Given the description of an element on the screen output the (x, y) to click on. 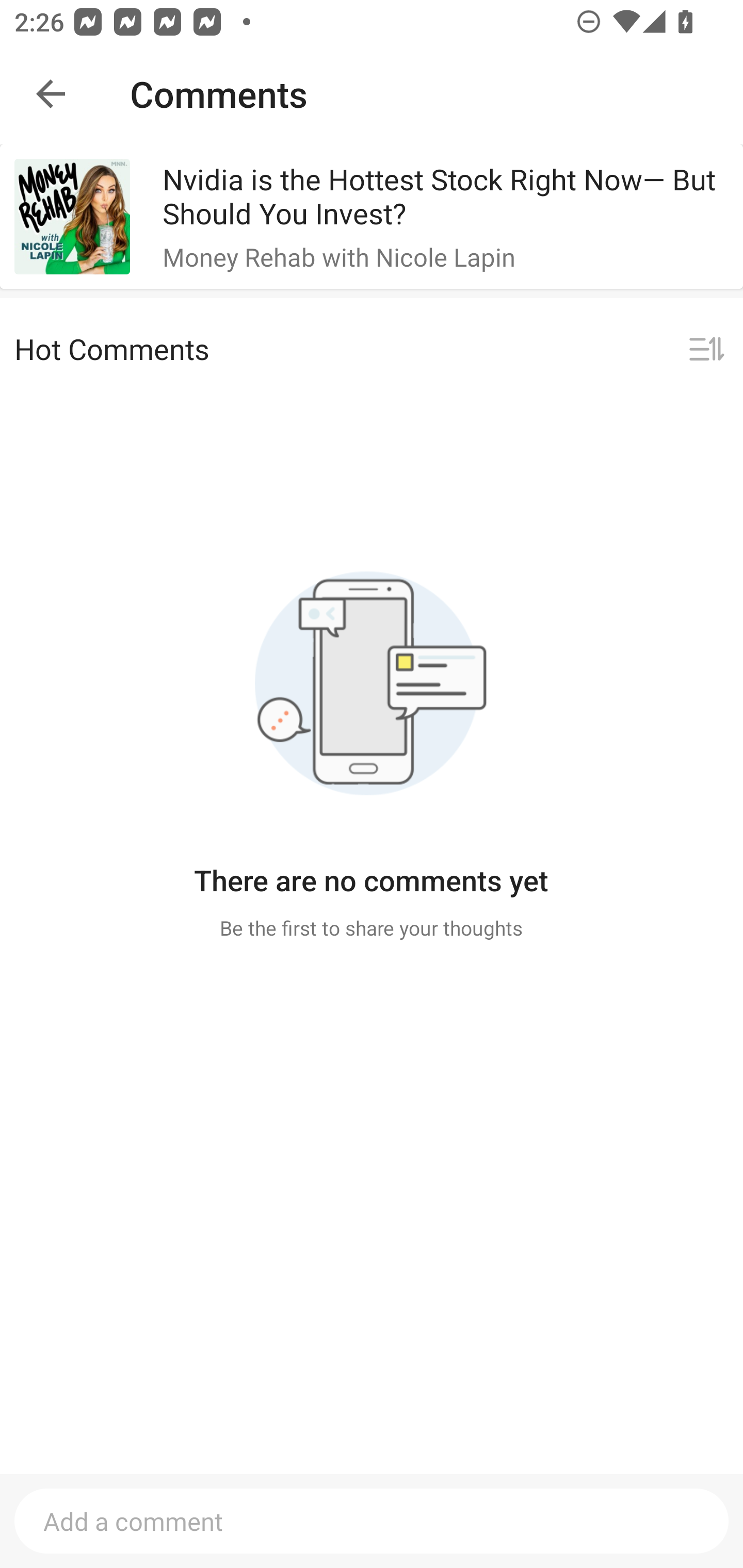
Navigate up (50, 93)
 (706, 349)
Add a comment (371, 1520)
